Given the description of an element on the screen output the (x, y) to click on. 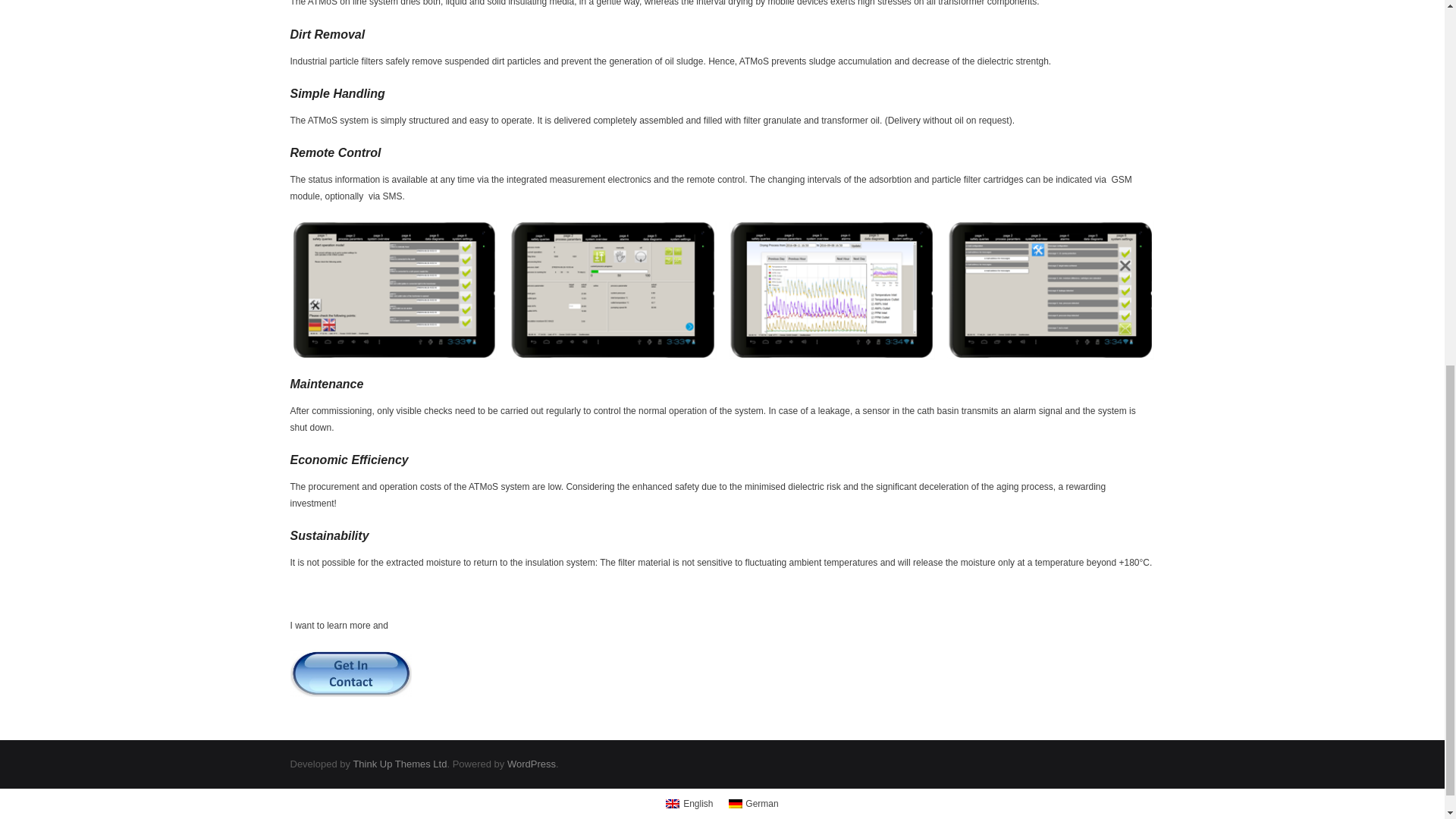
Think Up Themes Ltd (399, 763)
English (689, 803)
WordPress (531, 763)
